Given the description of an element on the screen output the (x, y) to click on. 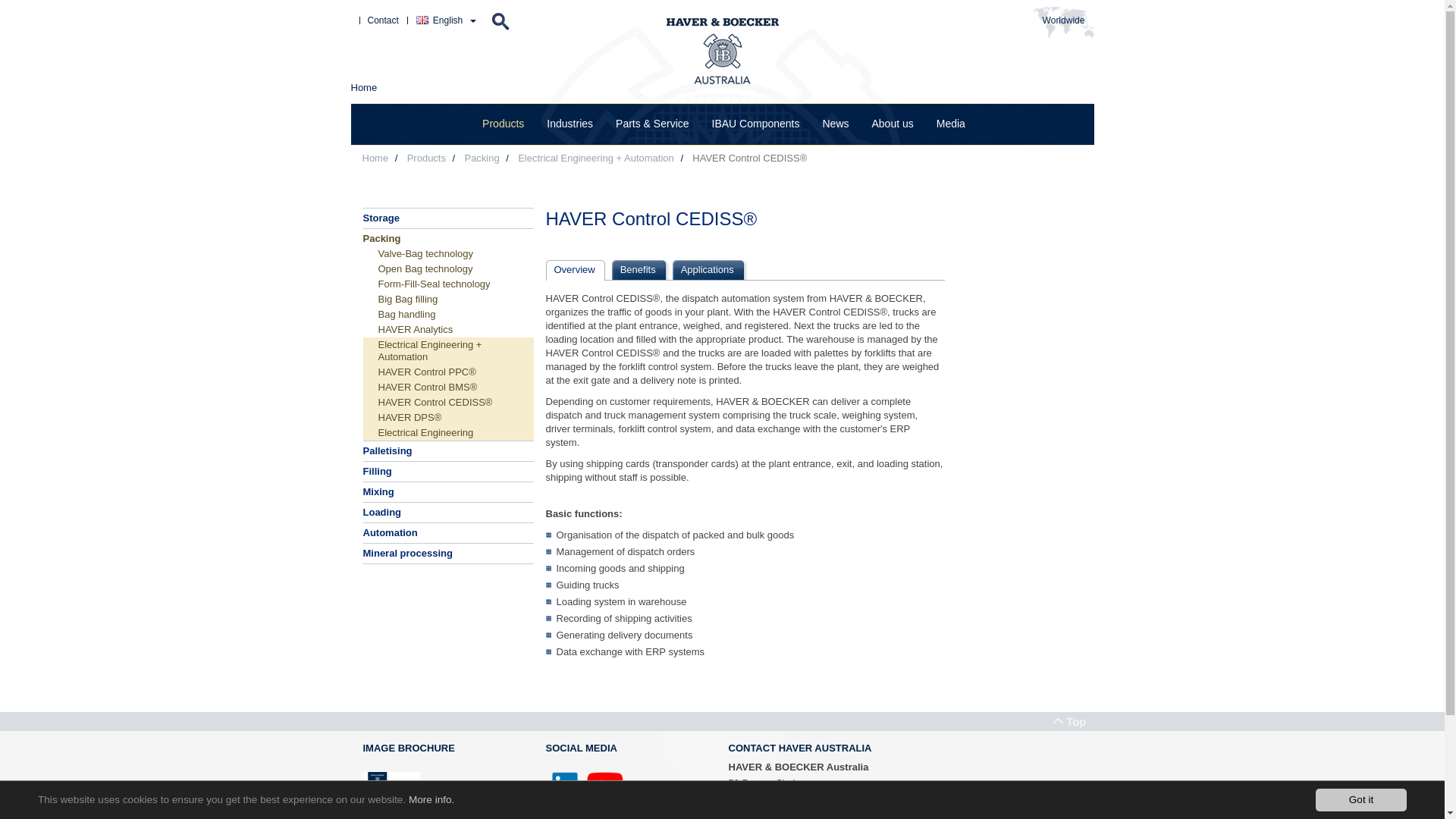
English Element type: hover (420, 19)
Loading Element type: text (447, 512)
Benefits Element type: text (644, 270)
Electrical Engineering + Automation Element type: text (447, 350)
Home Element type: text (363, 87)
Bag handling Element type: text (447, 314)
Please enter your word Element type: hover (499, 20)
Products Element type: text (426, 157)
Big Bag filling Element type: text (447, 299)
Open Bag technology Element type: text (447, 268)
Valve-Bag technology Element type: text (447, 253)
Media Element type: text (950, 123)
Mineral processing Element type: text (447, 553)
Products Element type: text (502, 123)
Palletising Element type: text (447, 451)
Worldwide Element type: text (1062, 20)
About us Element type: text (891, 123)
Overview Element type: text (581, 270)
Parts & Service Element type: text (651, 123)
Industries Element type: text (569, 123)
More info. Element type: text (431, 799)
Applications Element type: text (713, 270)
IBAU Components Element type: text (755, 123)
HAVER Australia Element type: hover (564, 785)
Packing Element type: text (481, 157)
Packing Element type: text (447, 237)
Filling Element type: text (447, 471)
Form-Fill-Seal technology Element type: text (447, 283)
Go to Homepage Element type: hover (721, 51)
HAVER Australia Element type: hover (605, 785)
Contact Element type: text (382, 20)
Home Element type: text (375, 157)
Mixing Element type: text (447, 492)
Electrical Engineering + Automation Element type: text (595, 157)
Automation Element type: text (447, 532)
News Element type: text (834, 123)
HAVER Analytics Element type: text (447, 329)
Search Element type: text (499, 20)
Storage Element type: text (447, 218)
Got it Element type: text (1360, 799)
Electrical Engineering Element type: text (447, 432)
